Given the description of an element on the screen output the (x, y) to click on. 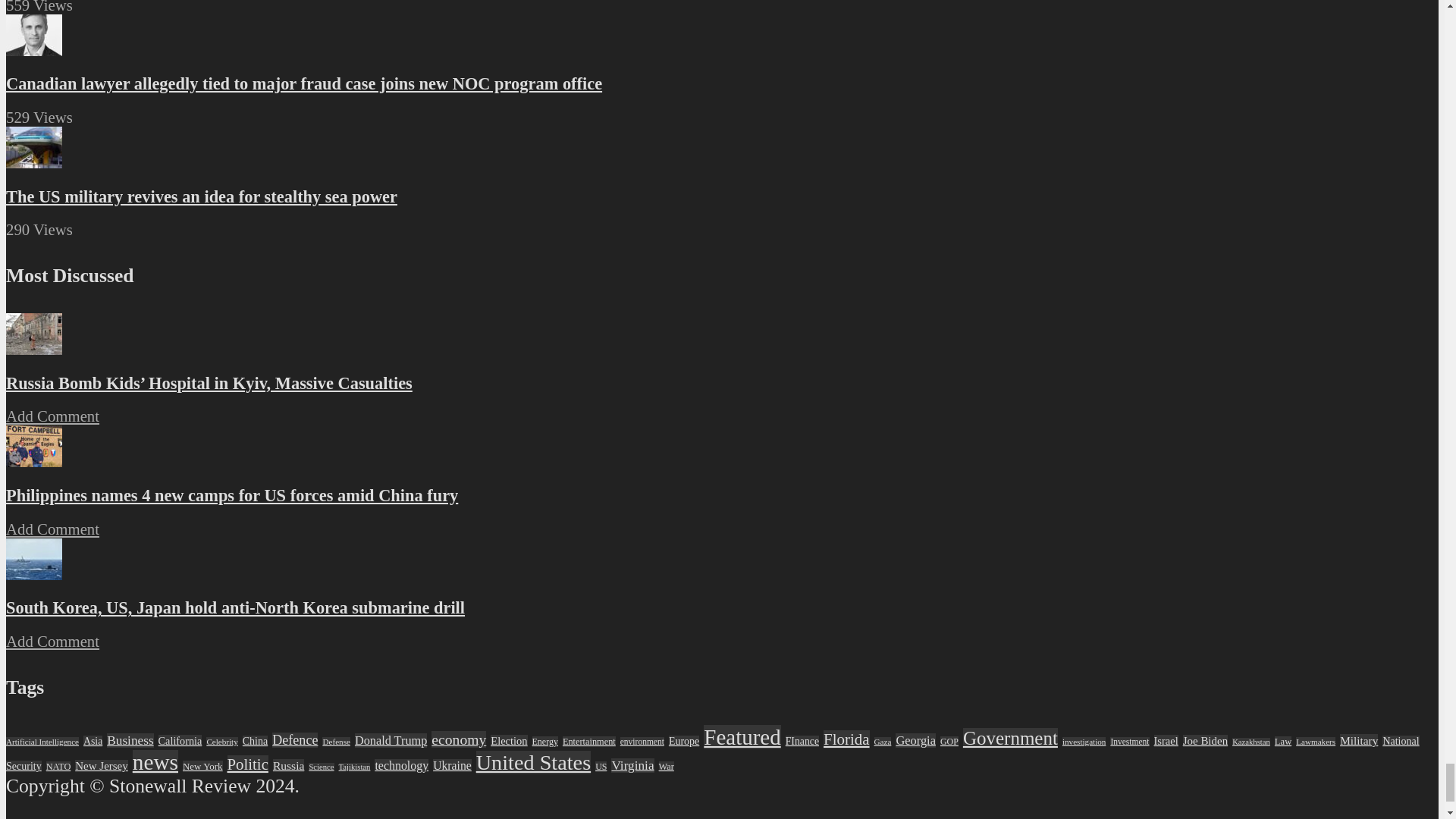
Philippines names 4 new camps for US forces amid China fury (33, 460)
South Korea, US, Japan hold anti-North Korea submarine drill (33, 573)
The US military revives an idea for stealthy sea power (33, 161)
